Given the description of an element on the screen output the (x, y) to click on. 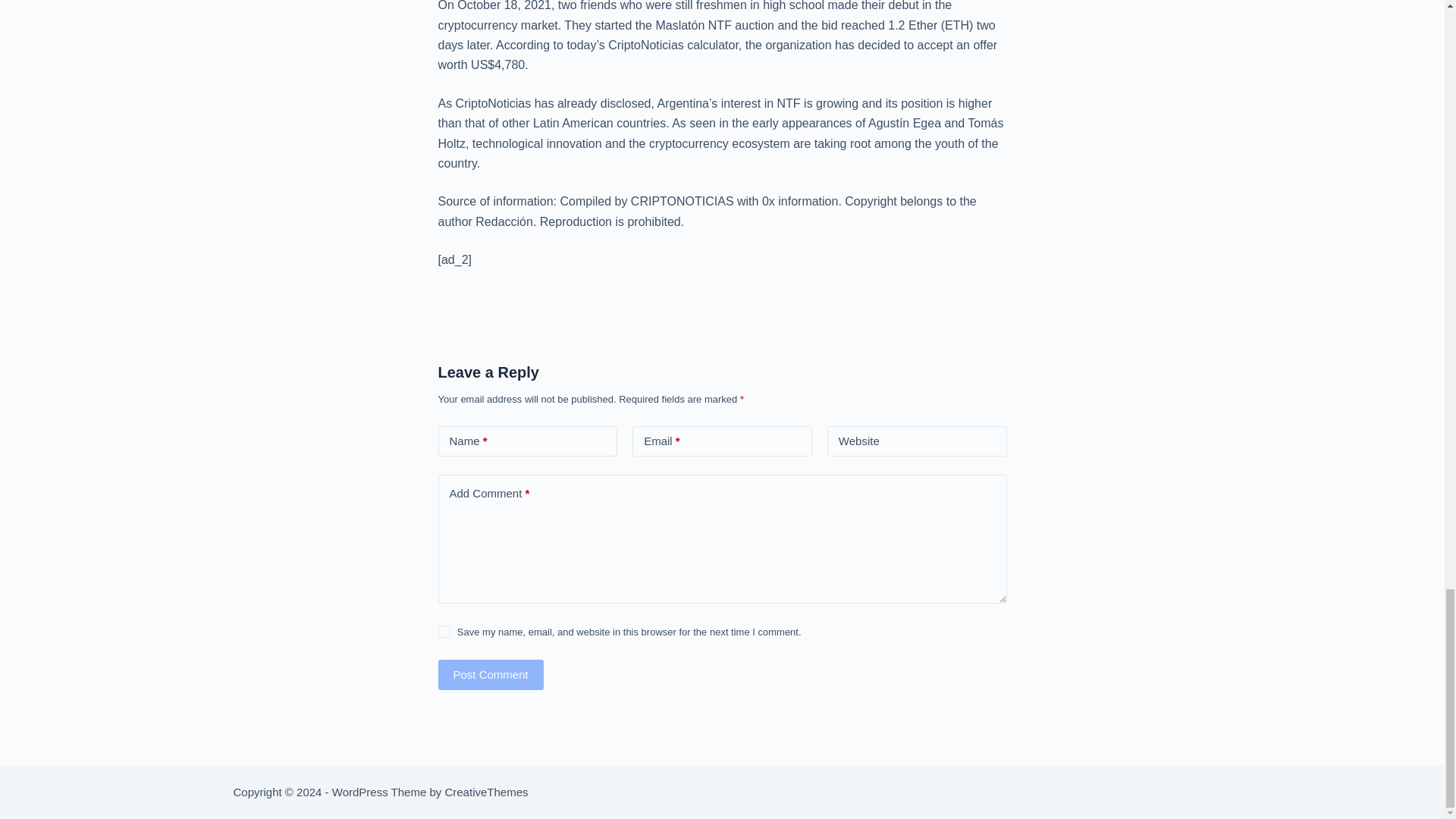
Post Comment (490, 675)
CreativeThemes (485, 791)
yes (443, 631)
